Given the description of an element on the screen output the (x, y) to click on. 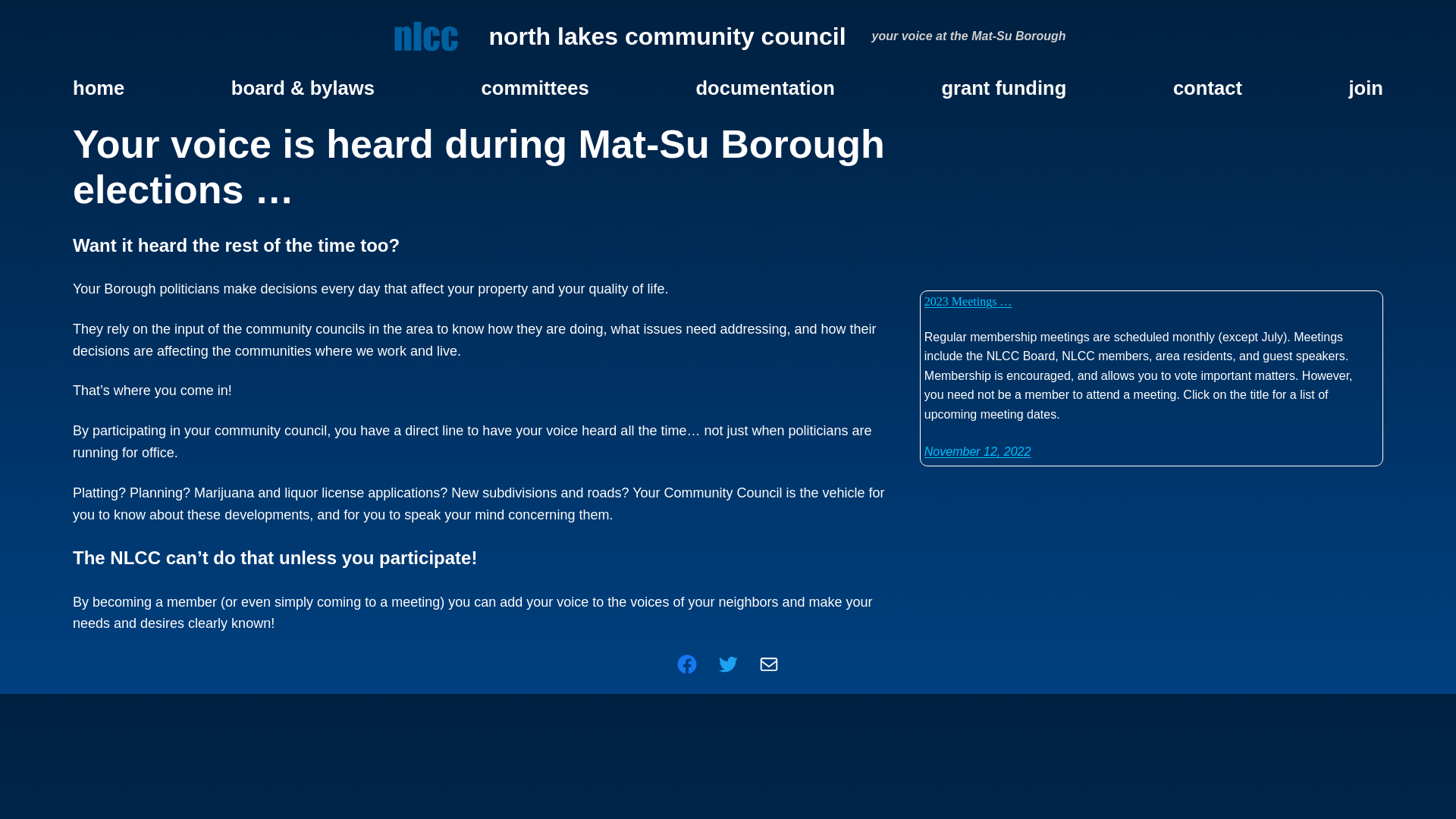
November 12, 2022 Element type: text (977, 451)
Facebook Element type: text (686, 663)
Mail Element type: text (768, 663)
join Element type: text (1365, 87)
home Element type: text (98, 87)
board & bylaws Element type: text (302, 87)
grant funding Element type: text (1003, 87)
documentation Element type: text (764, 87)
contact Element type: text (1207, 87)
committees Element type: text (535, 87)
Twitter Element type: text (727, 663)
